Given the description of an element on the screen output the (x, y) to click on. 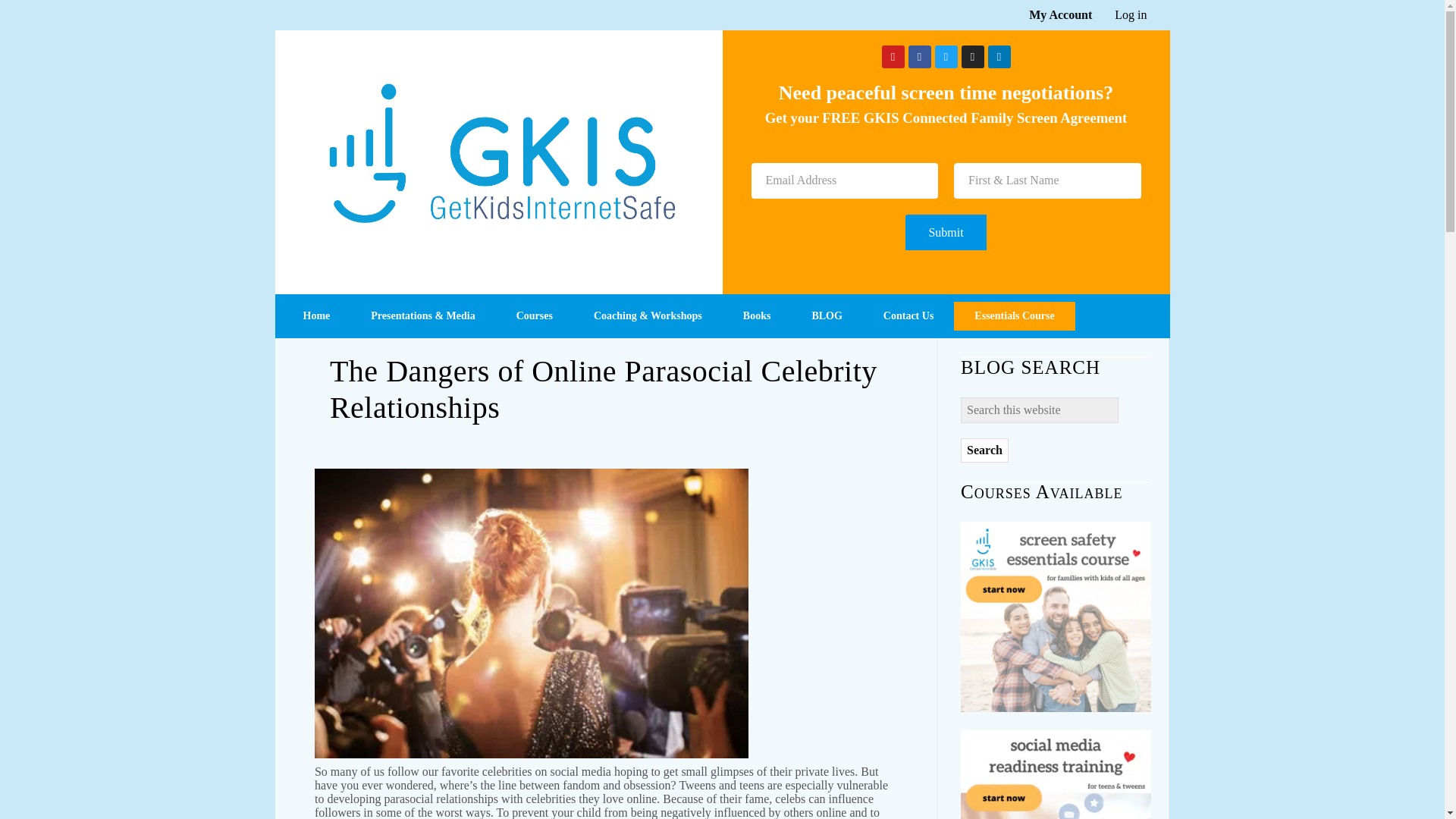
My Account (1049, 14)
Courses (534, 316)
Home (316, 316)
Log in (1119, 14)
Submit (945, 232)
Books (757, 316)
Search (984, 450)
Search (984, 450)
